Given the description of an element on the screen output the (x, y) to click on. 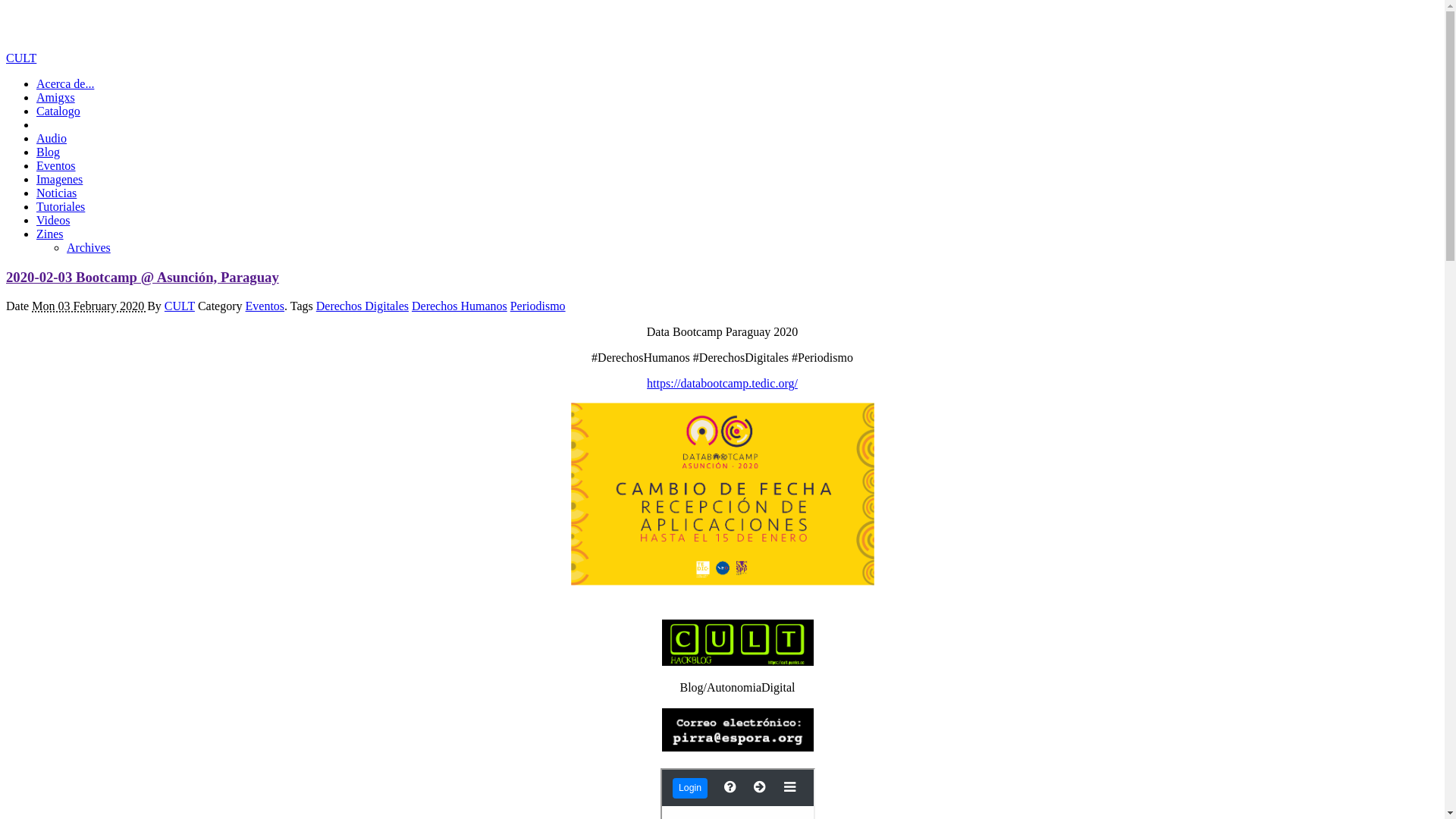
Videos Element type: text (52, 219)
Eventos Element type: text (265, 305)
Amigxs Element type: text (55, 97)
Catalogo Element type: text (58, 110)
Blog Element type: text (47, 151)
Tutoriales Element type: text (60, 206)
Derechos Digitales Element type: text (362, 305)
Archives Element type: text (88, 247)
Zines Element type: text (49, 233)
Periodismo Element type: text (537, 305)
Derechos Humanos Element type: text (459, 305)
Audio Element type: text (51, 137)
Acerca de... Element type: text (65, 83)
Noticias Element type: text (56, 192)
CULT Element type: text (179, 305)
https://databootcamp.tedic.org/ Element type: text (721, 382)
Imagenes Element type: text (59, 178)
CULT Element type: text (21, 57)
Eventos Element type: text (55, 165)
